Given the description of an element on the screen output the (x, y) to click on. 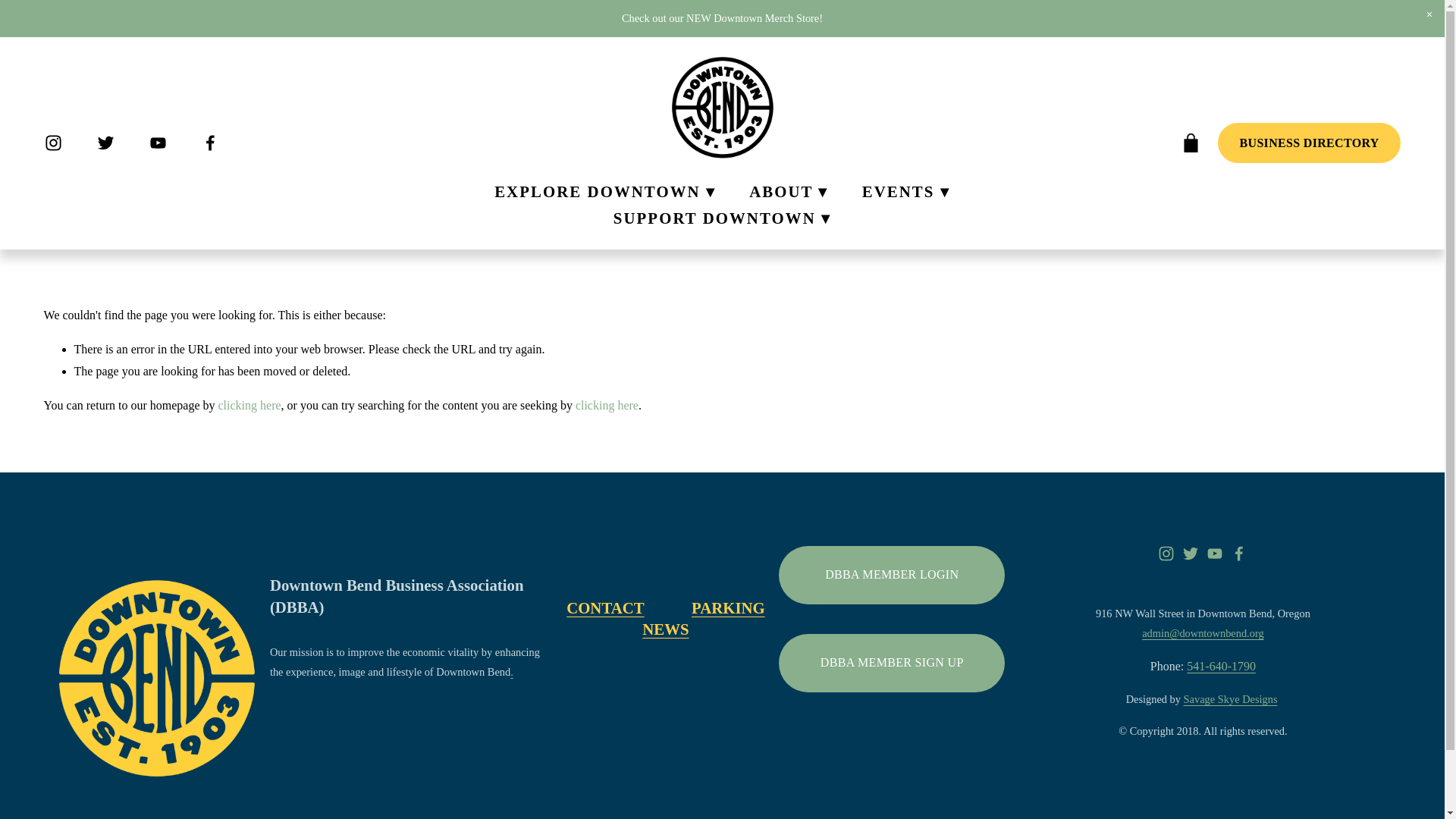
ABOUT (788, 191)
EVENTS (905, 191)
EXPLORE DOWNTOWN (605, 191)
BUSINESS DIRECTORY (1308, 142)
SUPPORT DOWNTOWN (721, 217)
